Given the description of an element on the screen output the (x, y) to click on. 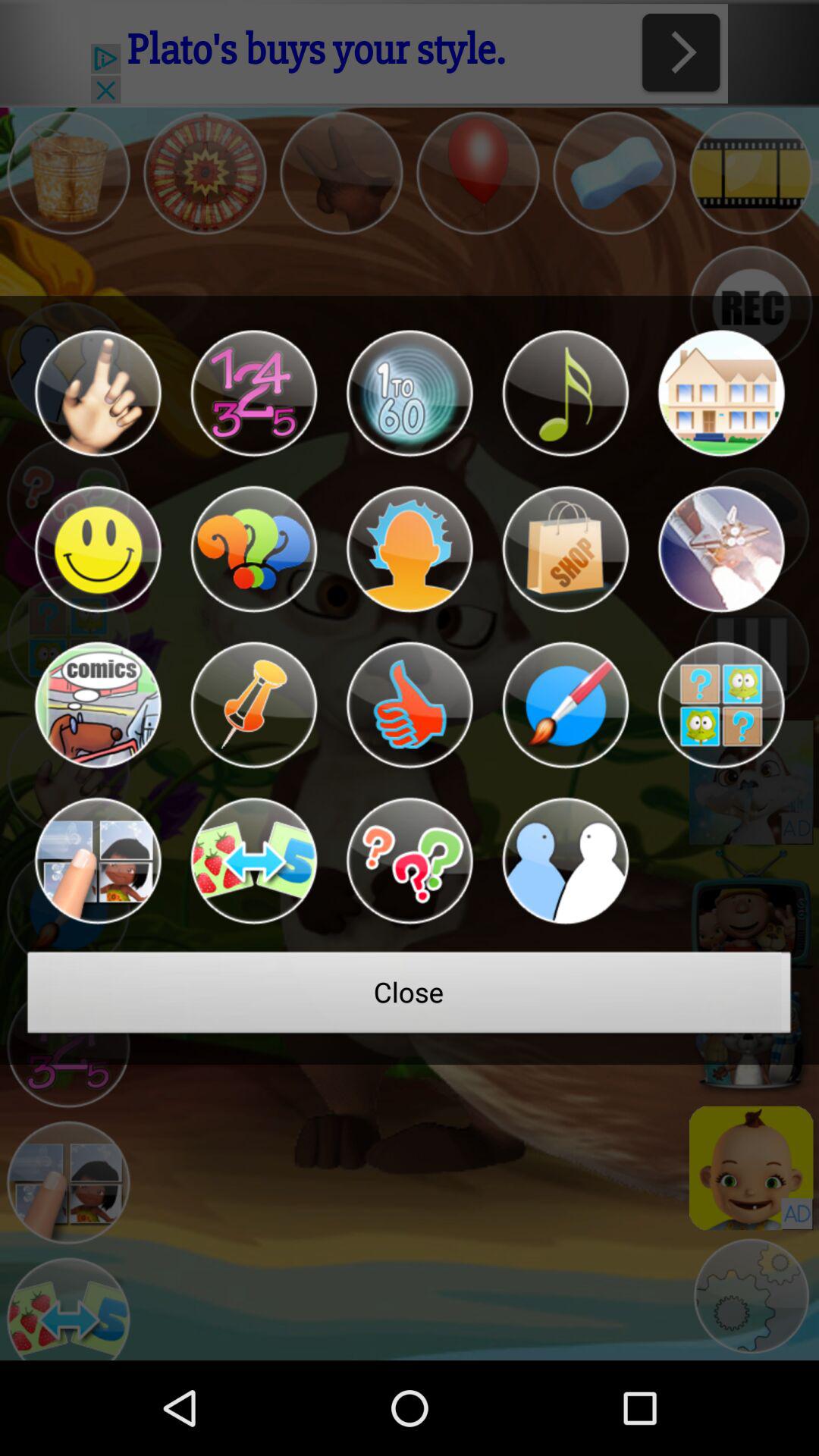
touch (97, 393)
